Given the description of an element on the screen output the (x, y) to click on. 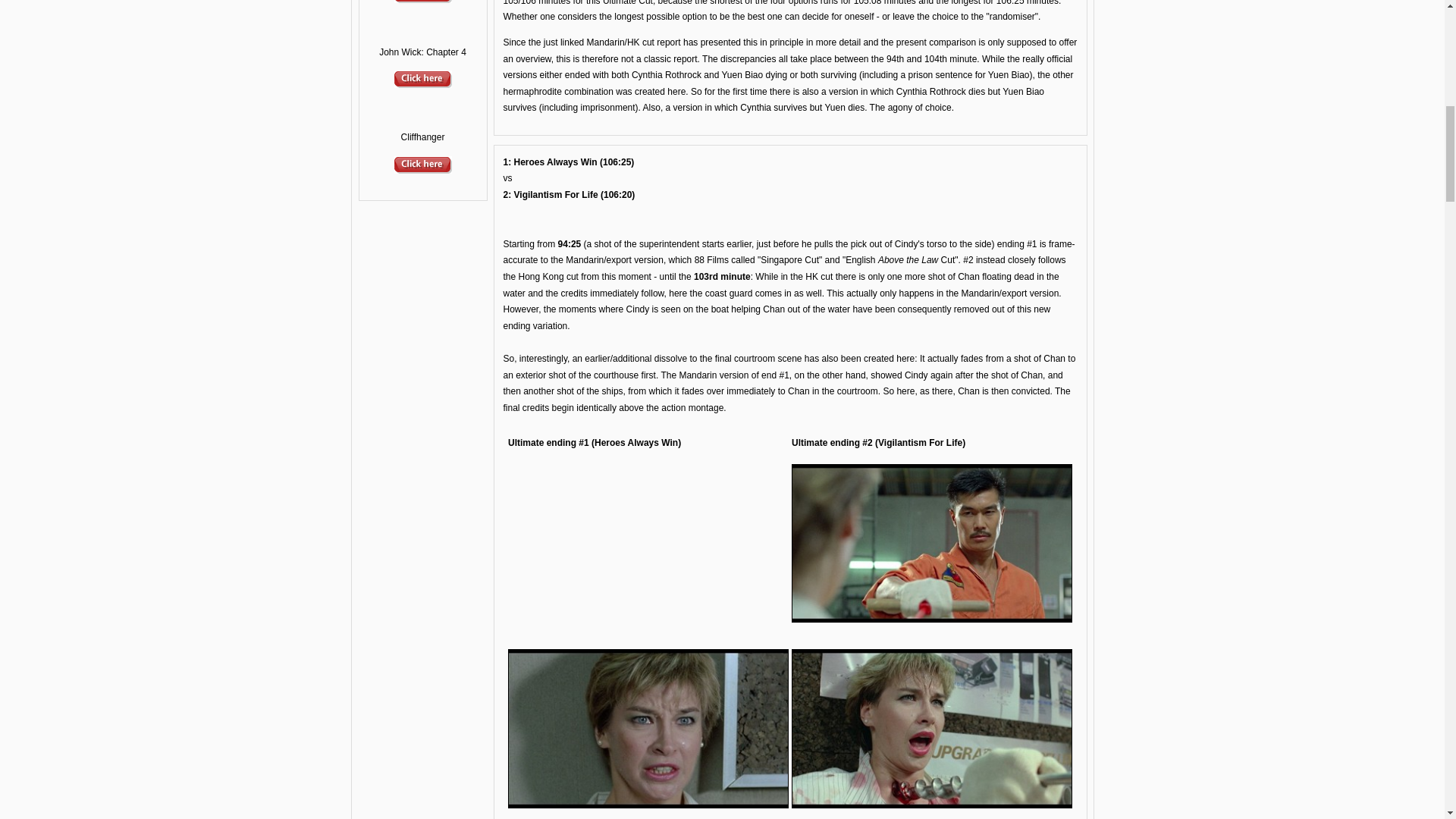
Avatar  from Amazon.com (422, 2)
John Wick: Chapter 4 from Amazon.com (422, 84)
